Given the description of an element on the screen output the (x, y) to click on. 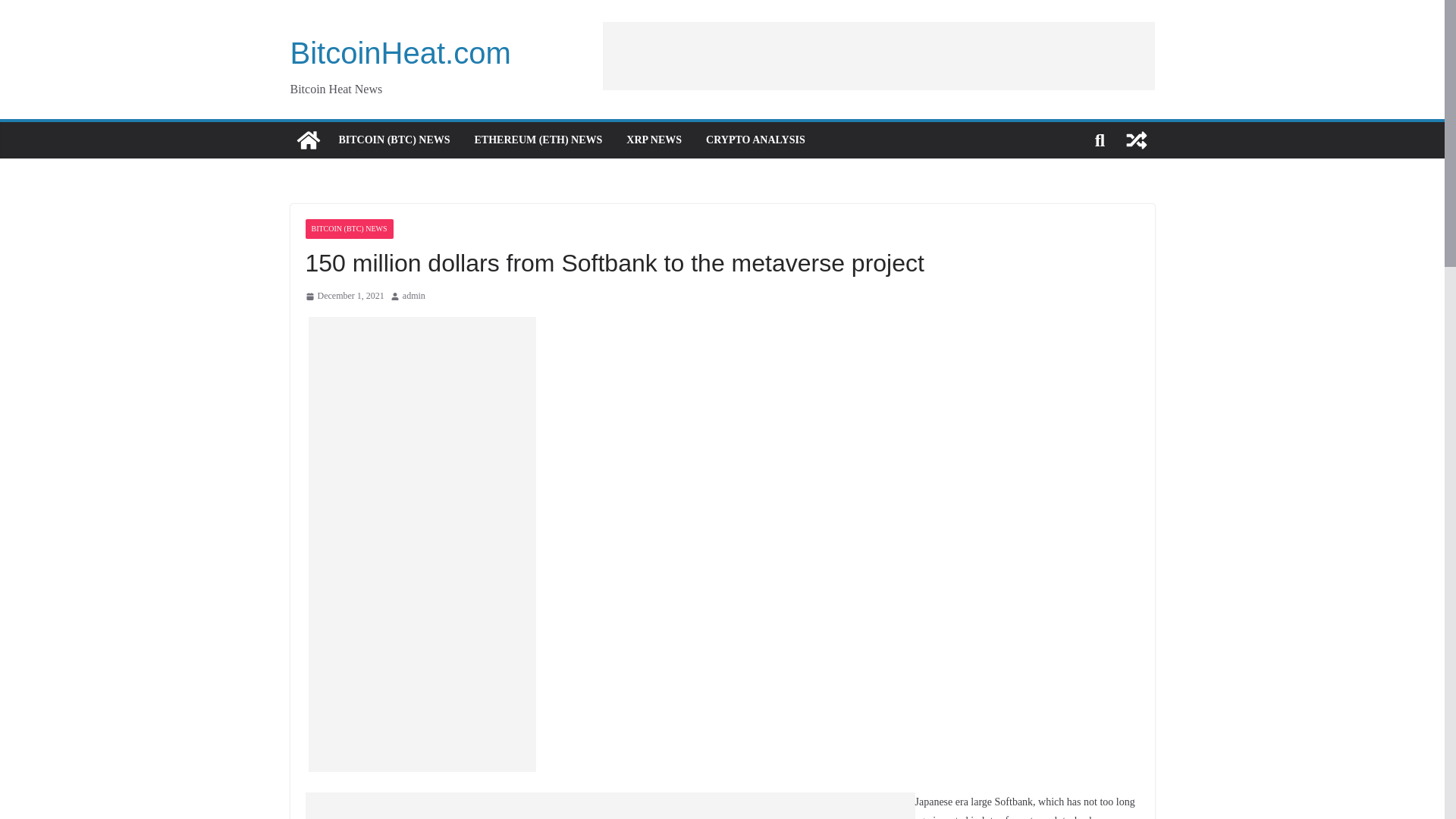
1:53 am (344, 296)
CRYPTO ANALYSIS (755, 139)
December 1, 2021 (344, 296)
Advertisement (878, 55)
BitcoinHeat.com (307, 140)
admin (414, 296)
View a random post (1136, 140)
Advertisement (431, 805)
XRP NEWS (653, 139)
BitcoinHeat.com (400, 52)
